Given the description of an element on the screen output the (x, y) to click on. 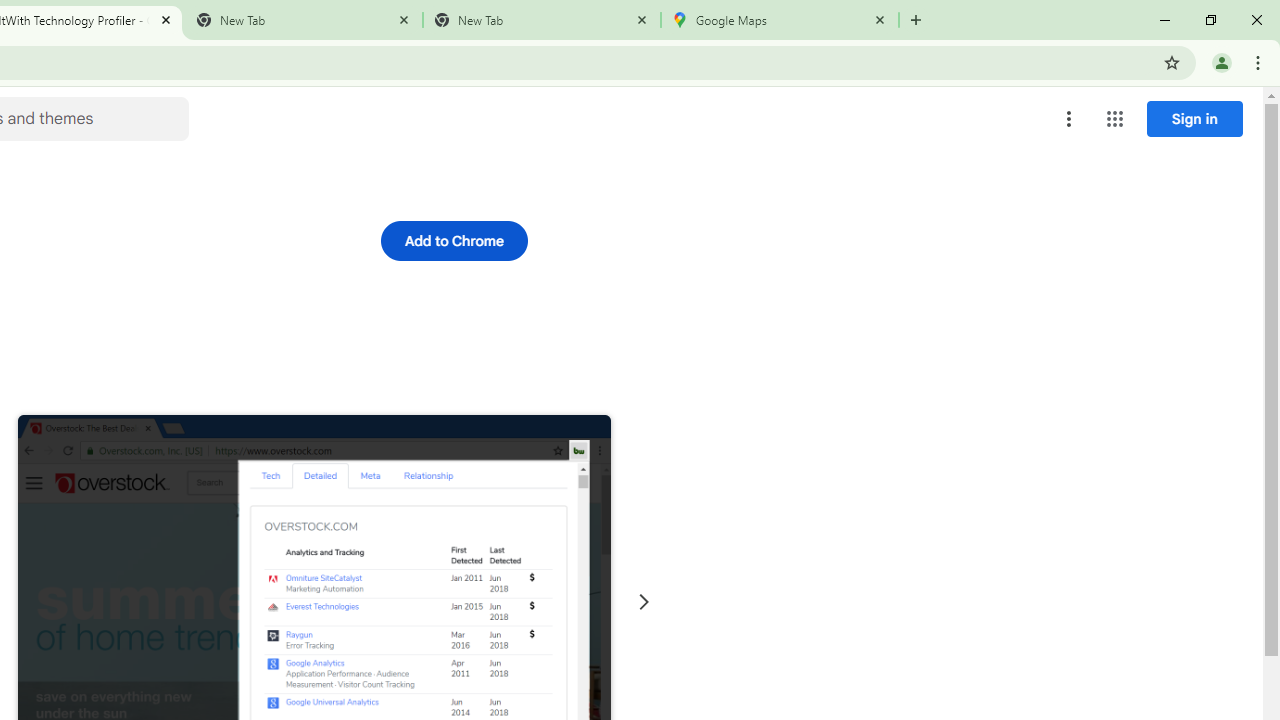
Add to Chrome (453, 240)
Next slide (643, 601)
Google Maps (779, 20)
More options menu (1069, 118)
New Tab (541, 20)
